Given the description of an element on the screen output the (x, y) to click on. 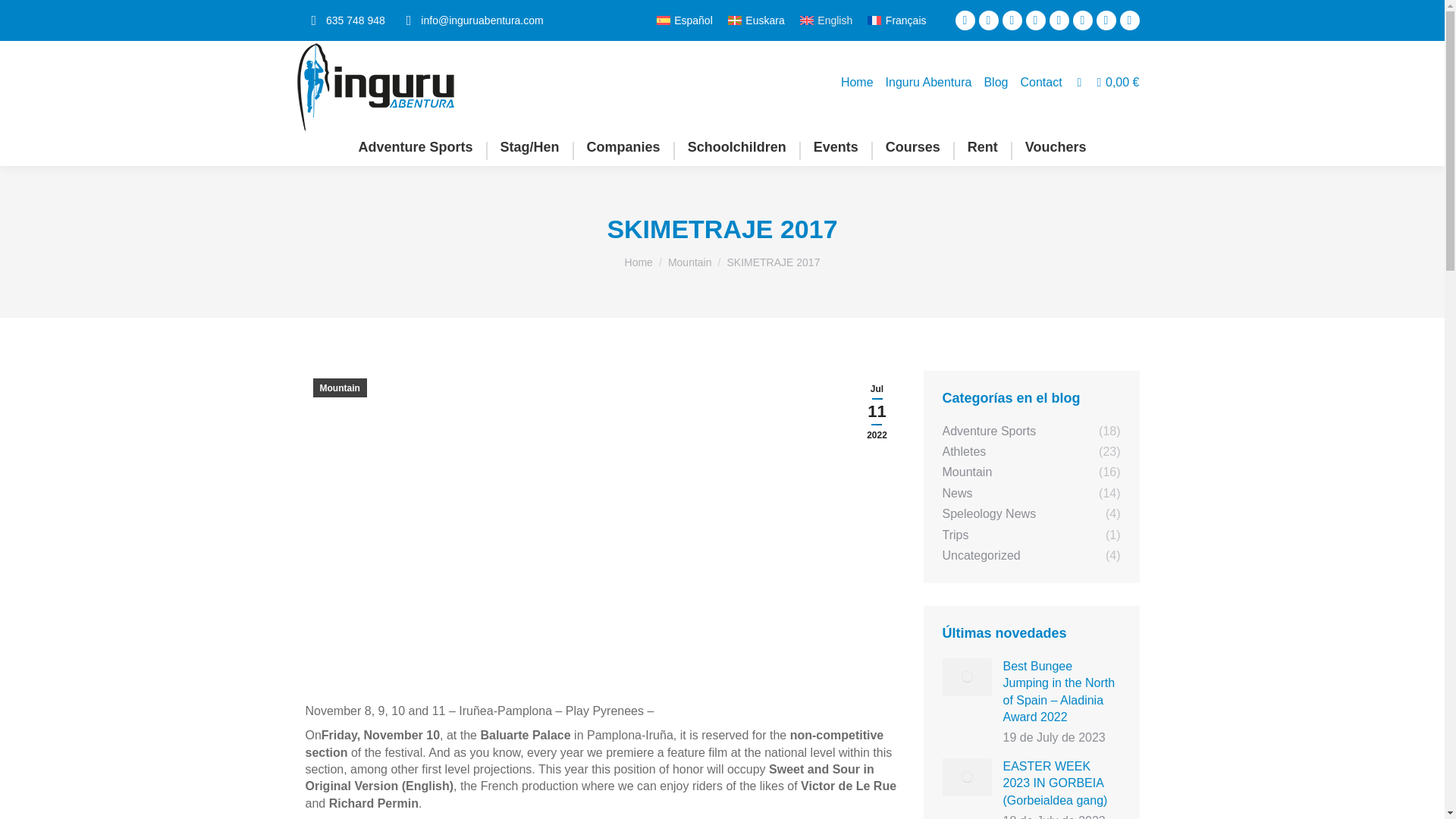
English (826, 20)
Whatsapp page opens in new window (1129, 20)
TripAdvisor page opens in new window (1106, 20)
Inguru Abentura (928, 82)
Flickr page opens in new window (1083, 20)
Blog (995, 82)
TripAdvisor page opens in new window (1106, 20)
Mountain (689, 262)
Companies (623, 146)
Contact (1040, 82)
Home (638, 262)
X page opens in new window (988, 20)
Facebook page opens in new window (965, 20)
YouTube page opens in new window (1035, 20)
Whatsapp page opens in new window (1129, 20)
